Given the description of an element on the screen output the (x, y) to click on. 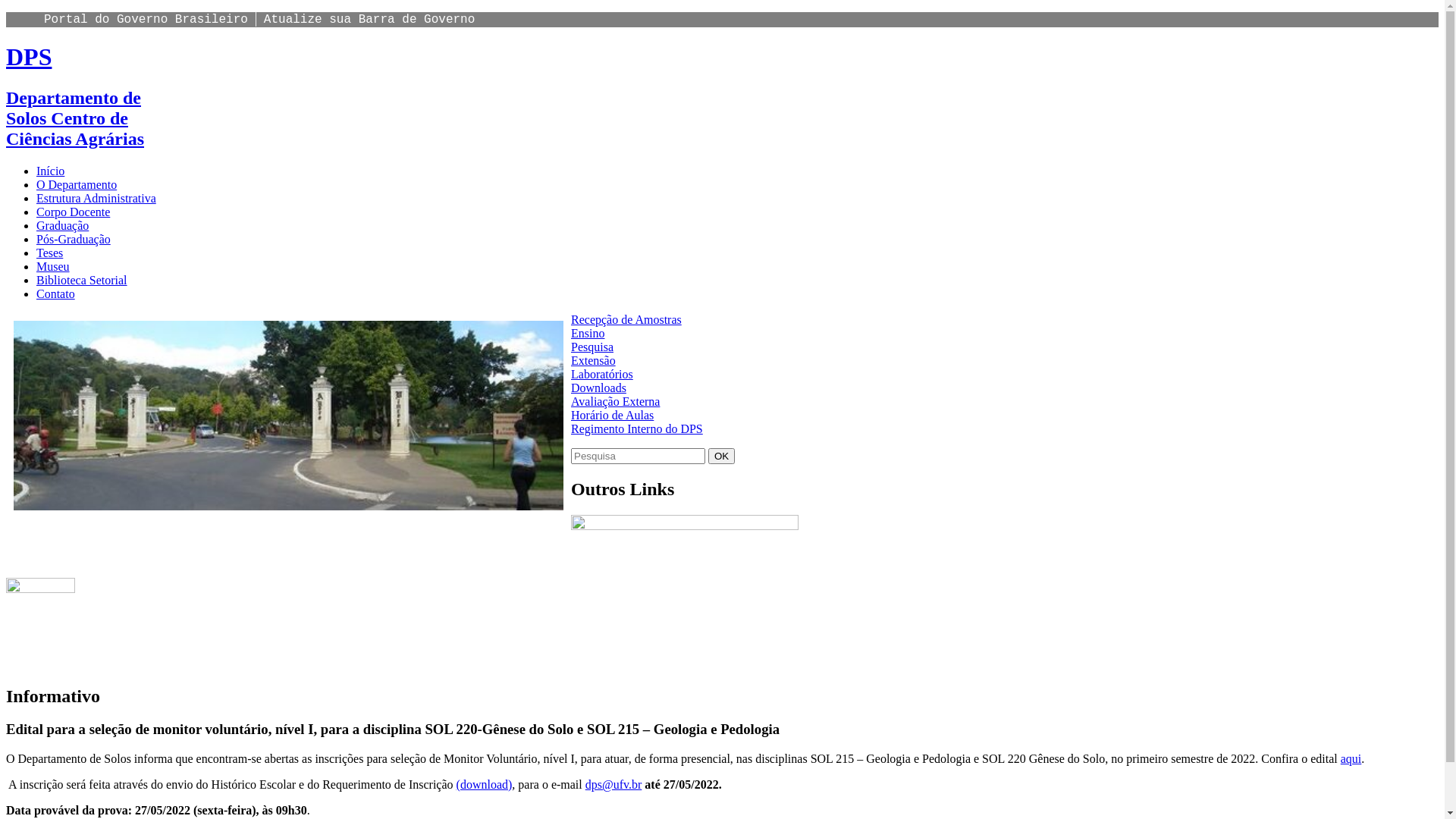
Atualize sua Barra de Governo Element type: text (368, 19)
Biblioteca Setorial Element type: text (81, 279)
( Element type: text (458, 784)
Teses Element type: text (49, 252)
Ensino Element type: text (587, 332)
aqui Element type: text (1350, 758)
Museu Element type: text (52, 266)
dps@ufv.br Element type: text (613, 784)
Pesquisa Element type: text (592, 346)
Downloads Element type: text (598, 387)
Regimento Interno do DPS Element type: text (636, 428)
Estrutura Administrativa Element type: text (96, 197)
OK Element type: text (721, 456)
Portal do Governo Brasileiro Element type: text (145, 19)
O Departamento Element type: text (76, 184)
Outros Links Element type: hover (684, 545)
14_o Element type: hover (288, 415)
Corpo Docente Element type: text (72, 211)
Contato Element type: text (55, 293)
download) Element type: text (485, 784)
